Given the description of an element on the screen output the (x, y) to click on. 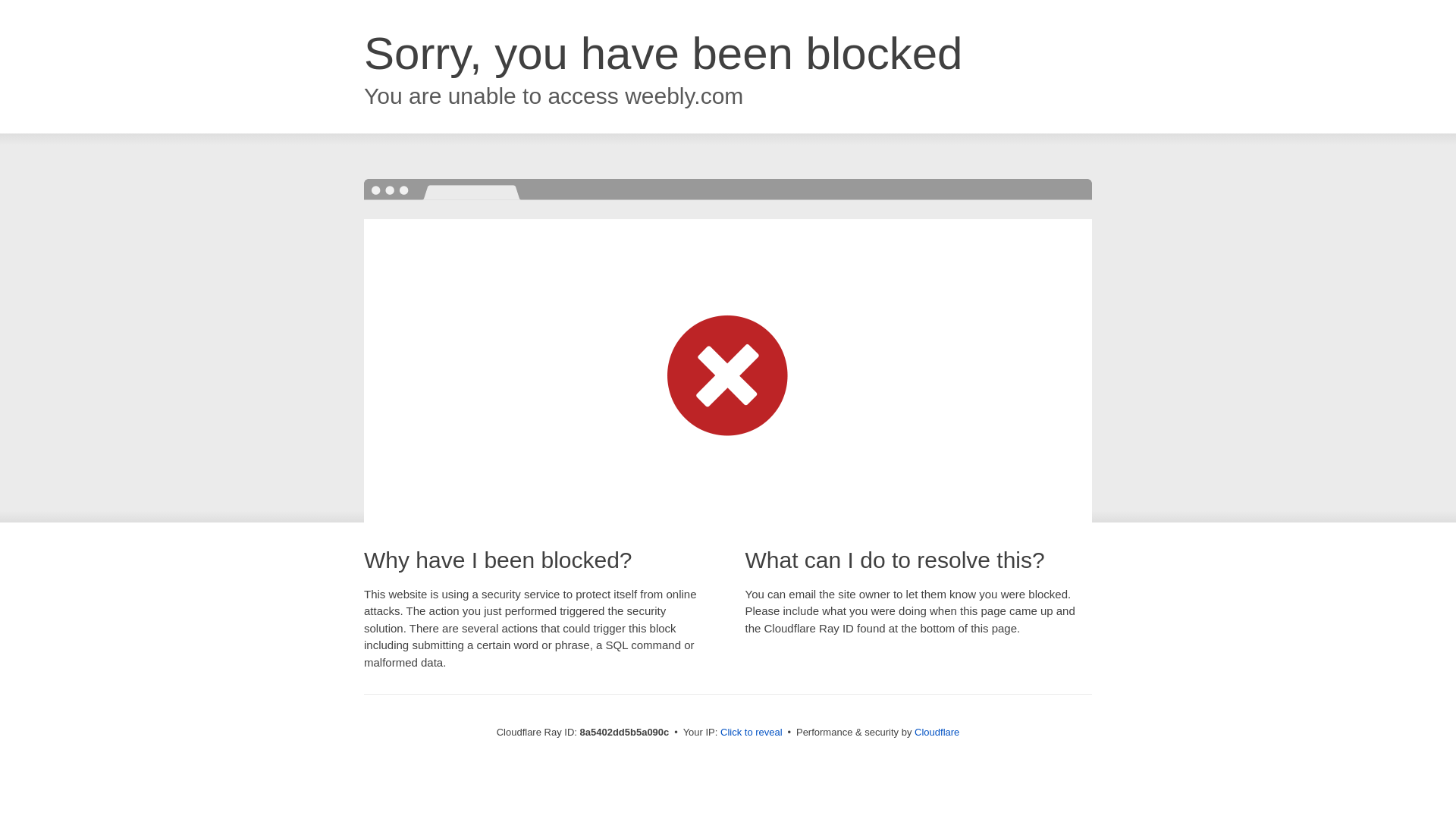
Click to reveal (751, 732)
Cloudflare (936, 731)
